Given the description of an element on the screen output the (x, y) to click on. 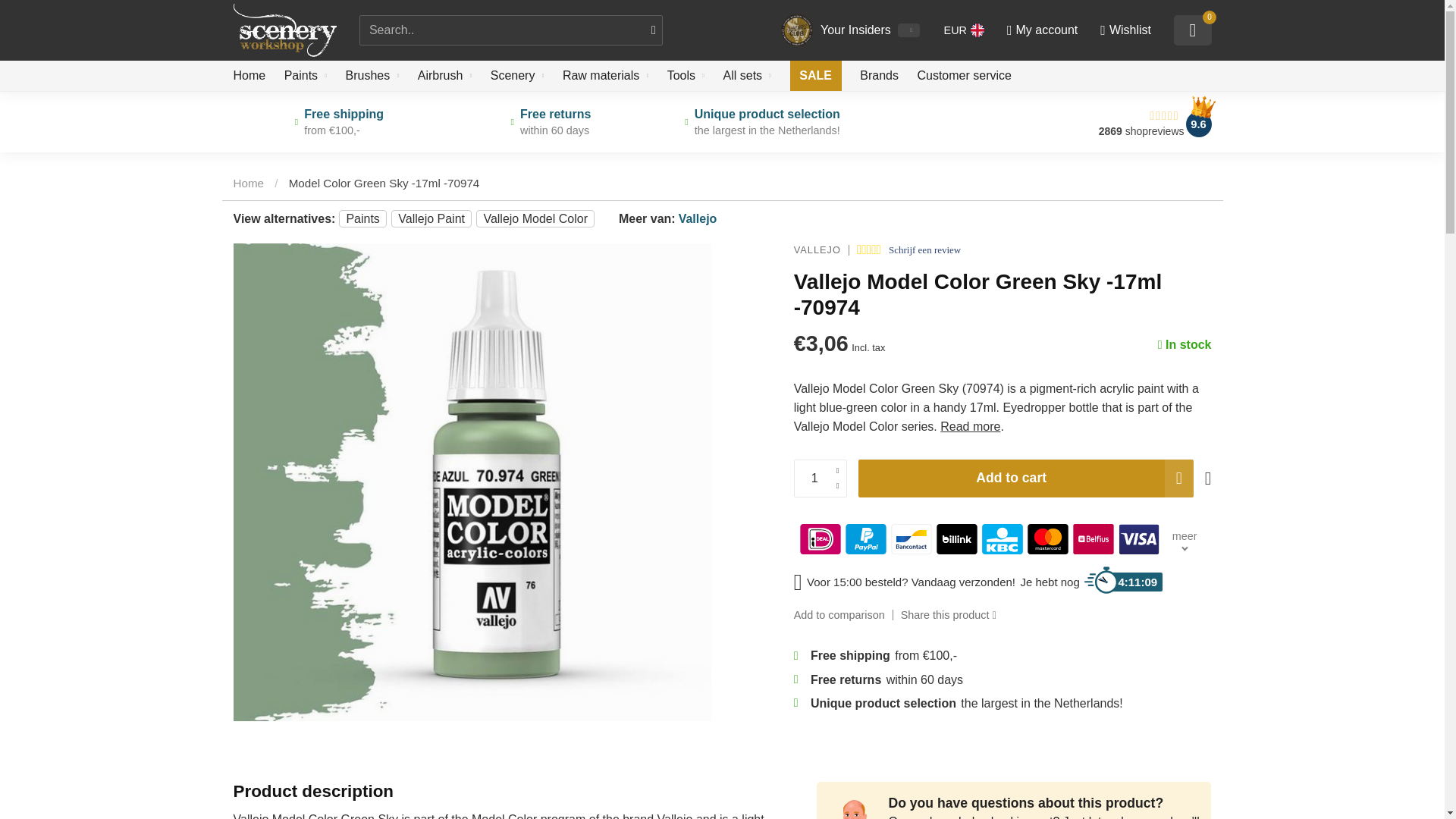
1 (820, 478)
Home (249, 75)
1 (1060, 227)
My account (1041, 30)
Home (248, 182)
0 (1192, 30)
Paints (304, 75)
Your Insiders (857, 30)
Wishlist (1125, 30)
Wishlist (1125, 30)
